Given the description of an element on the screen output the (x, y) to click on. 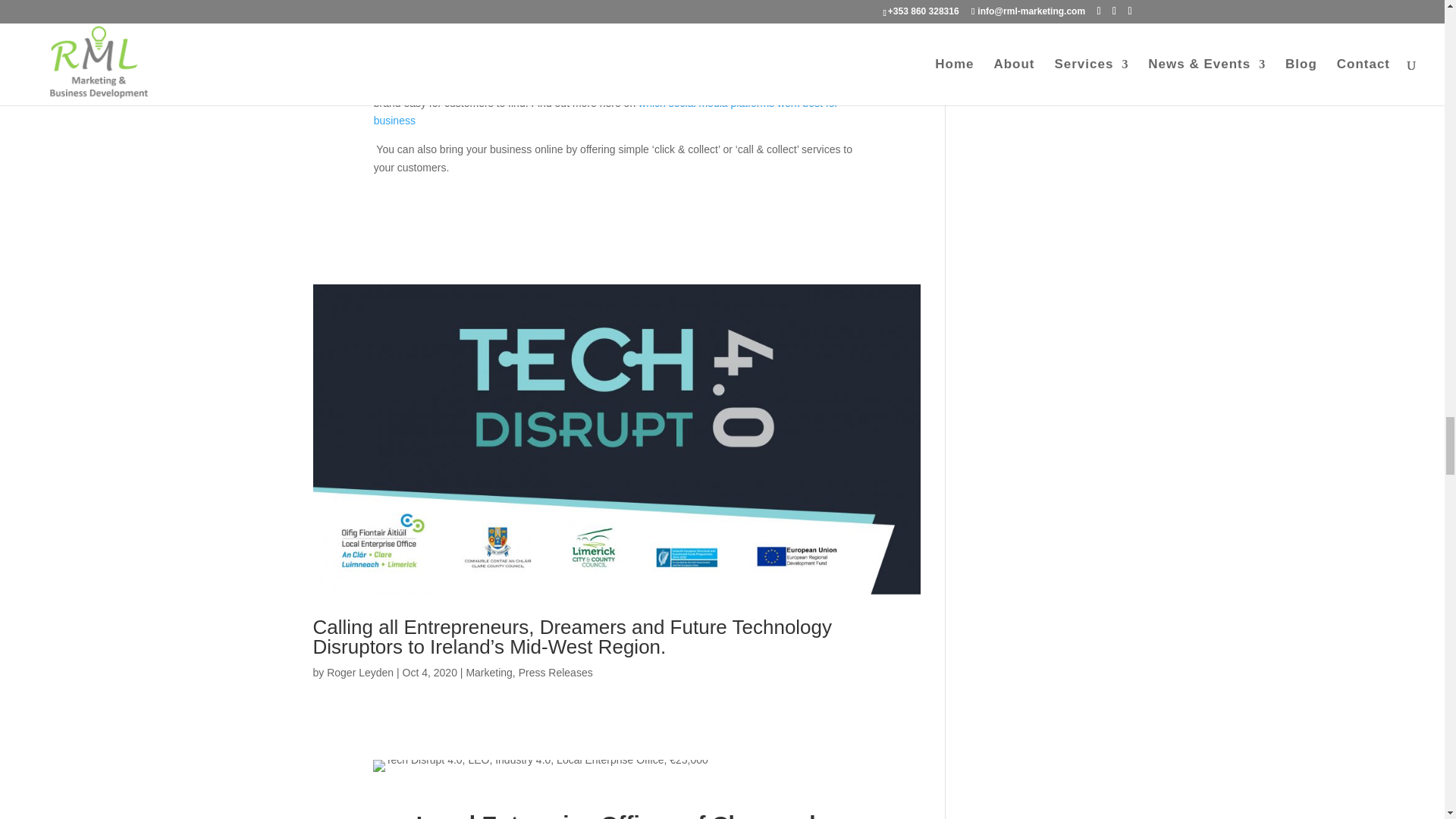
Posts by Roger Leyden (359, 672)
